Given the description of an element on the screen output the (x, y) to click on. 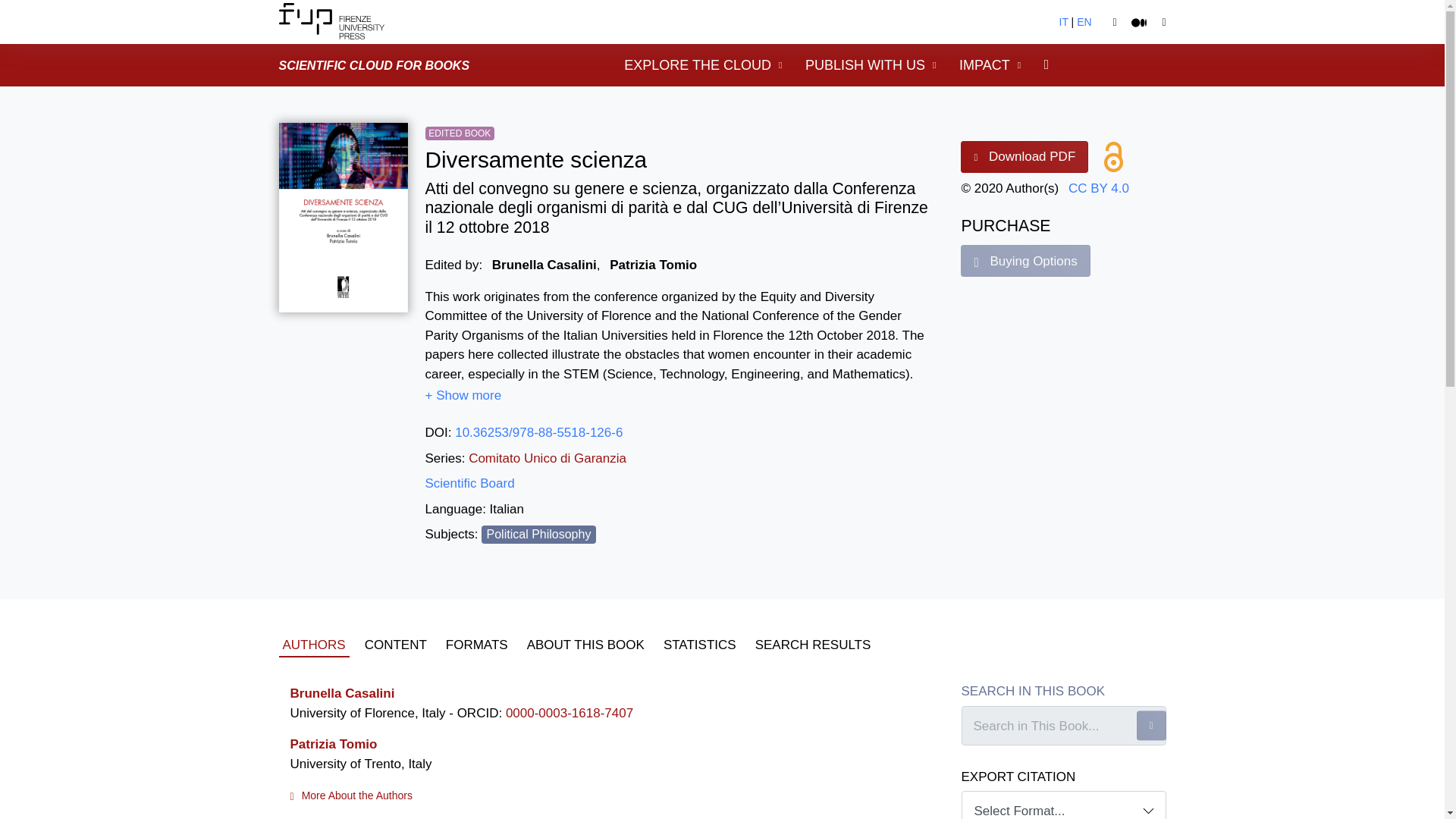
EXPLORE THE CLOUD (702, 65)
SCIENTIFIC CLOUD FOR BOOKS (374, 64)
EN (1083, 21)
PUBLISH WITH US (870, 65)
